Given the description of an element on the screen output the (x, y) to click on. 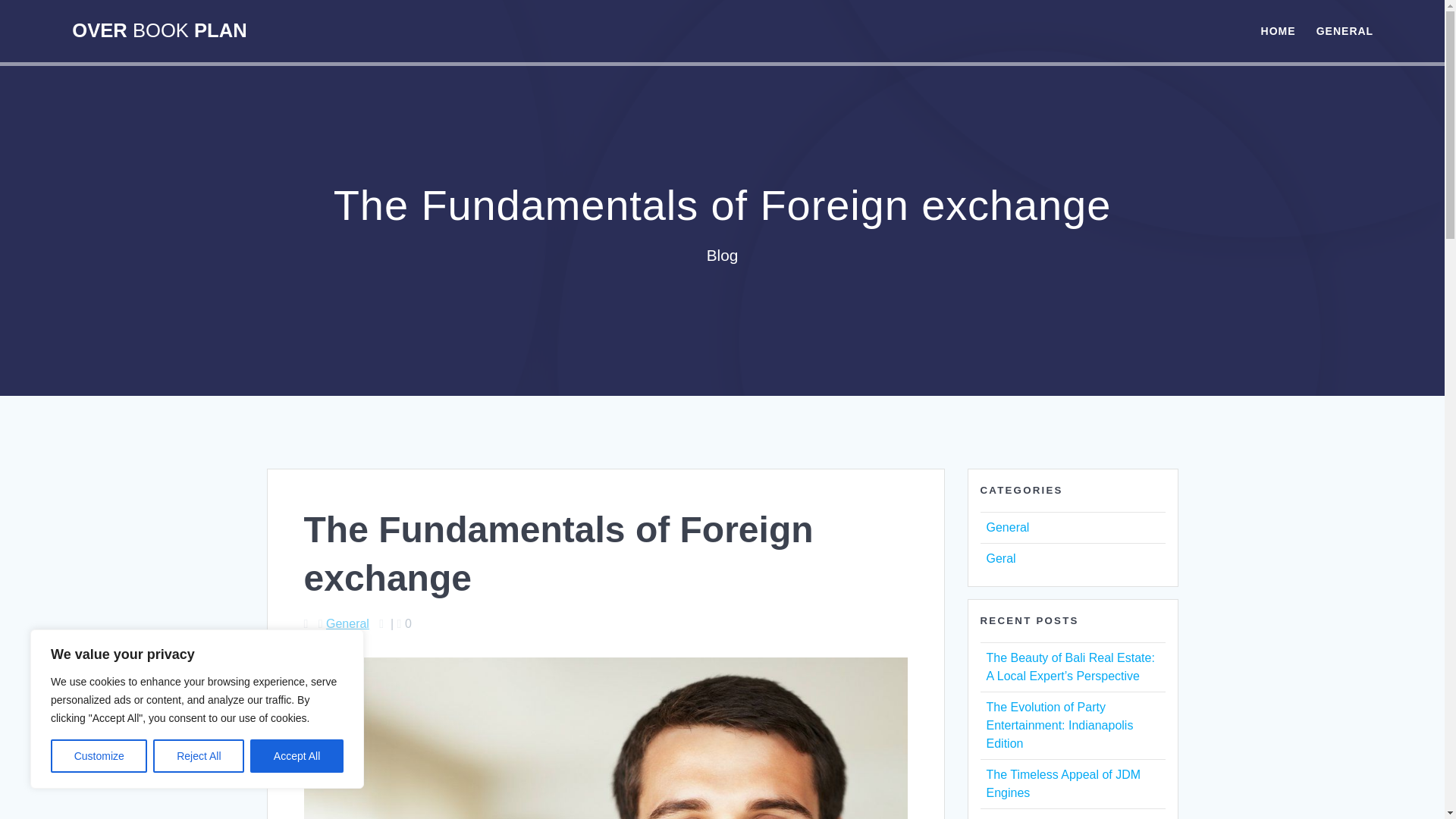
The Evolution of Party Entertainment: Indianapolis Edition (1058, 725)
OVER BOOK PLAN (158, 30)
Geral (999, 558)
Customize (98, 756)
General (347, 623)
GENERAL (1344, 30)
Reject All (198, 756)
General (1007, 526)
The Timeless Appeal of JDM Engines (1062, 783)
